Given the description of an element on the screen output the (x, y) to click on. 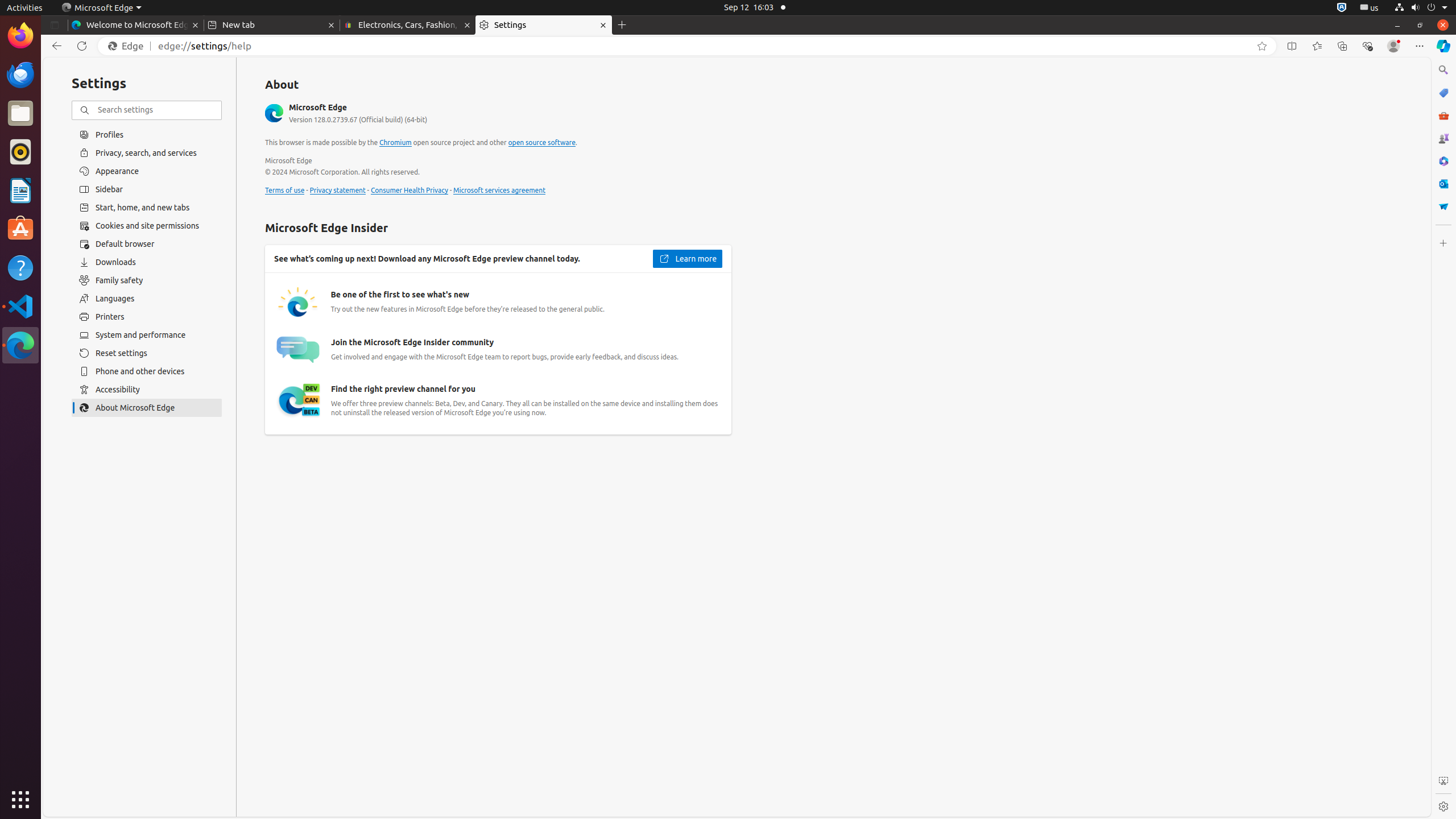
Appearance Element type: tree-item (146, 171)
System and performance Element type: tree-item (146, 334)
Sidebar Element type: tree-item (146, 189)
Start, home, and new tabs Element type: tree-item (146, 207)
Files Element type: push-button (20, 113)
